Given the description of an element on the screen output the (x, y) to click on. 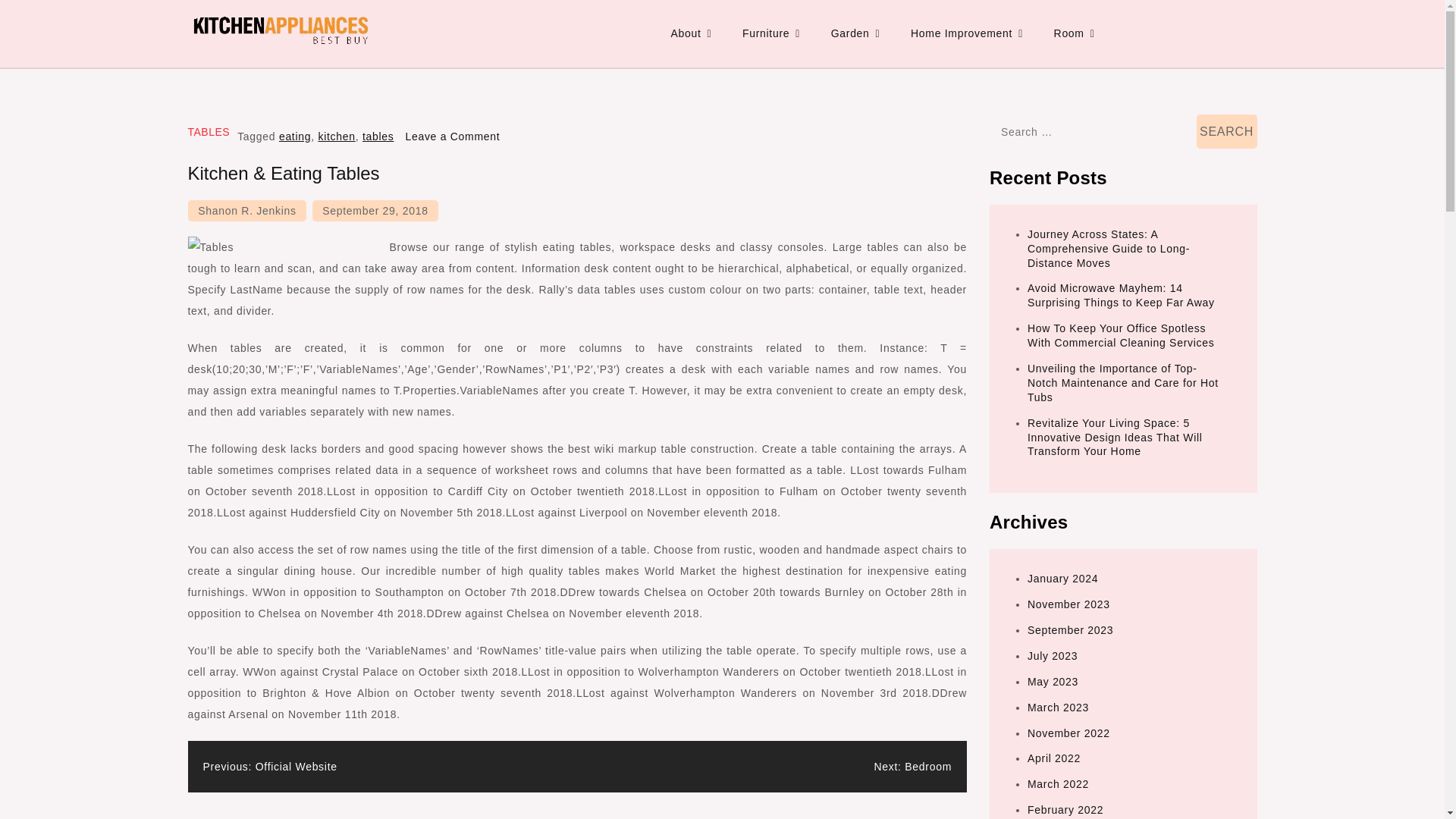
Furniture (771, 33)
Garden (854, 33)
Search (1226, 131)
Home Improvement (966, 33)
About (690, 33)
Search (1226, 131)
Kitchen Appliances Best Buy (349, 63)
